Given the description of an element on the screen output the (x, y) to click on. 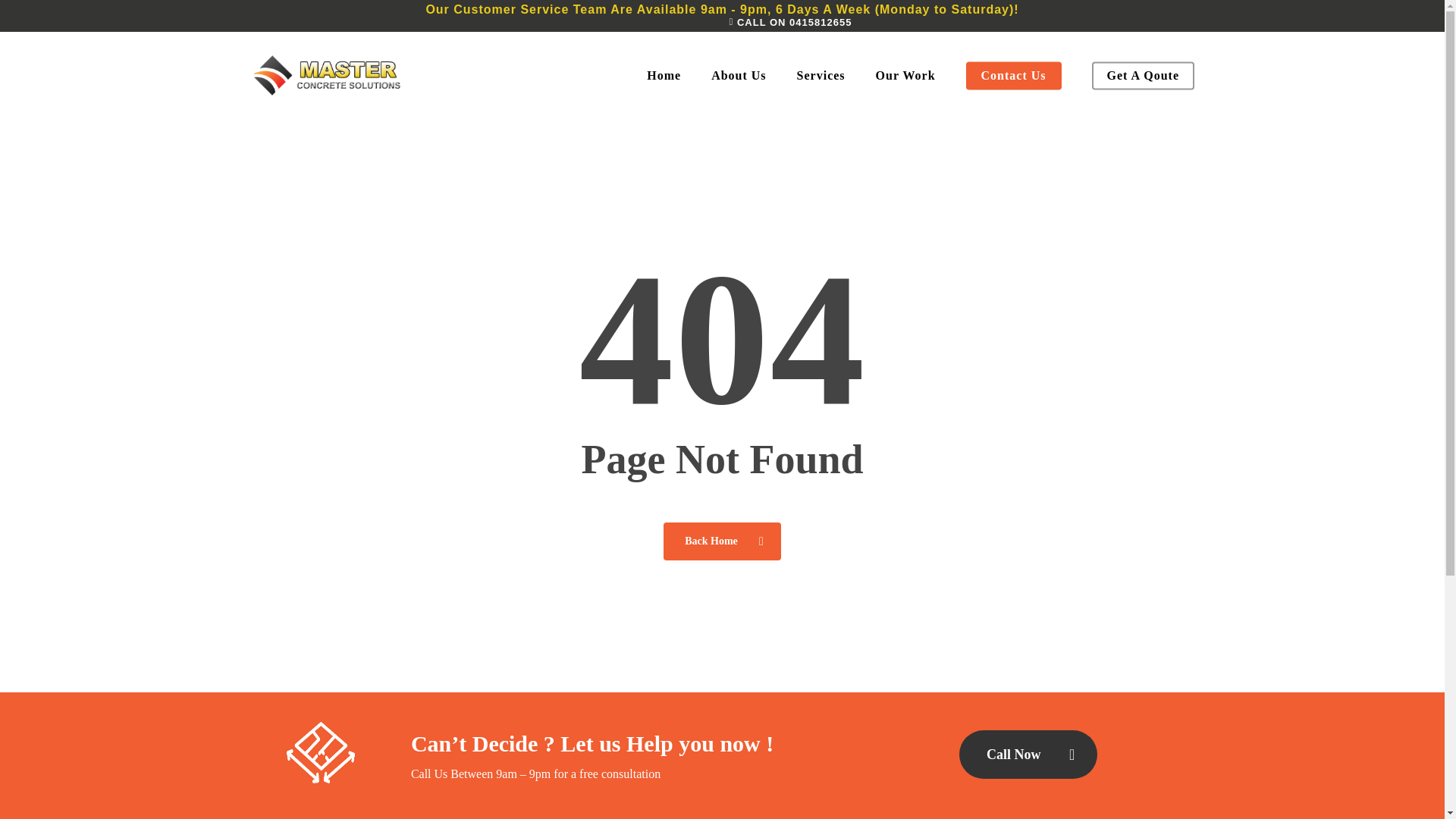
Home (663, 75)
Services (820, 75)
Our Work (905, 75)
About Us (737, 75)
Get A Qoute (1142, 75)
Back Home (721, 540)
Call Now (1028, 754)
Contact Us (1013, 75)
